Given the description of an element on the screen output the (x, y) to click on. 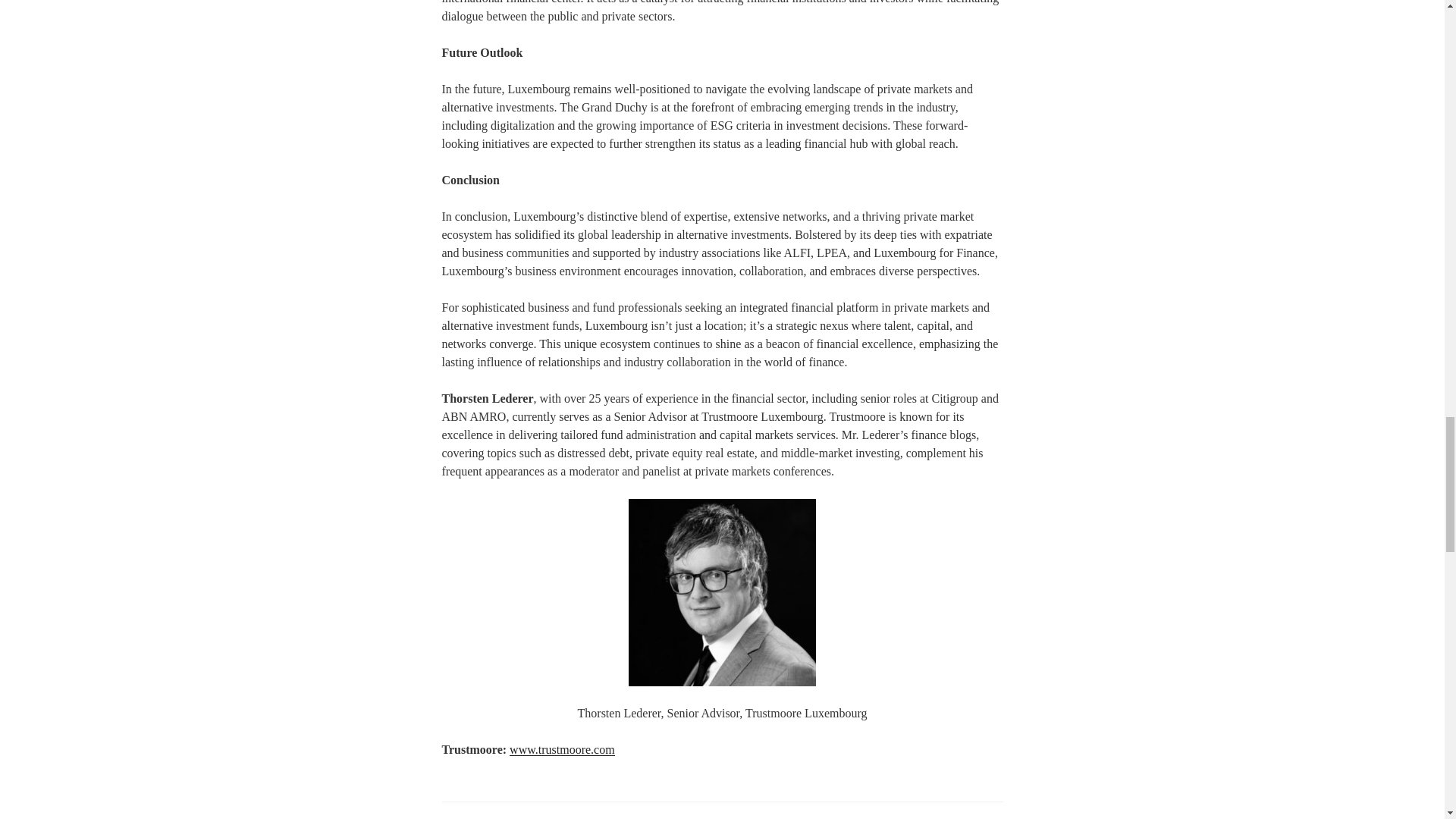
www.trustmoore.com (561, 748)
